Given the description of an element on the screen output the (x, y) to click on. 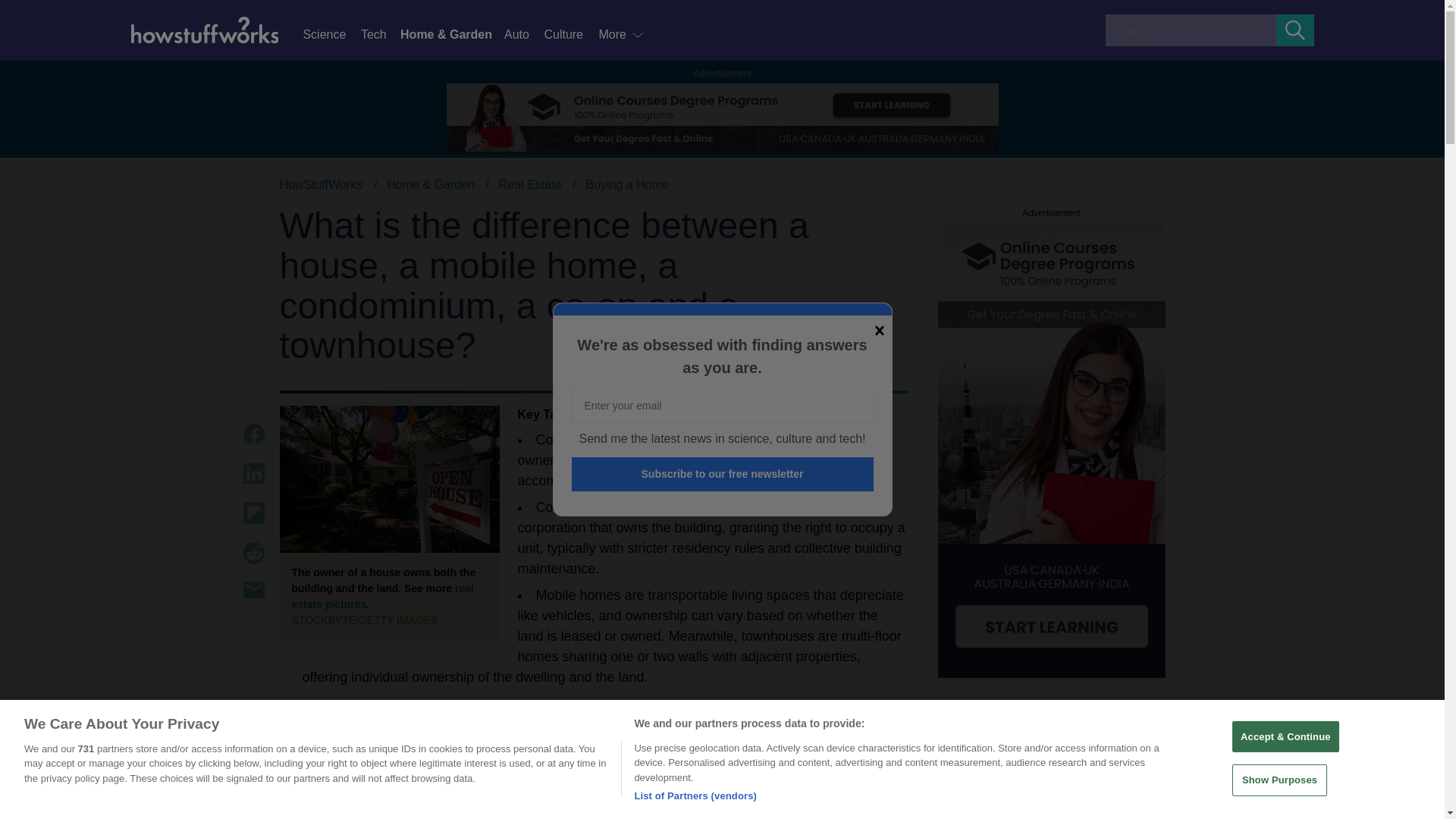
Tech (380, 34)
HowStuffWorks (320, 184)
Share Content on LinkedIn (253, 473)
Submit Search (1295, 29)
Subscribe to our free newsletter (722, 474)
Share Content on Facebook (253, 434)
Real Estate (530, 184)
More (621, 34)
Share Content via Email (253, 589)
Culture (570, 34)
Science (330, 34)
Share Content on Flipboard (253, 512)
Auto (523, 34)
Share Content on Reddit (253, 552)
